Given the description of an element on the screen output the (x, y) to click on. 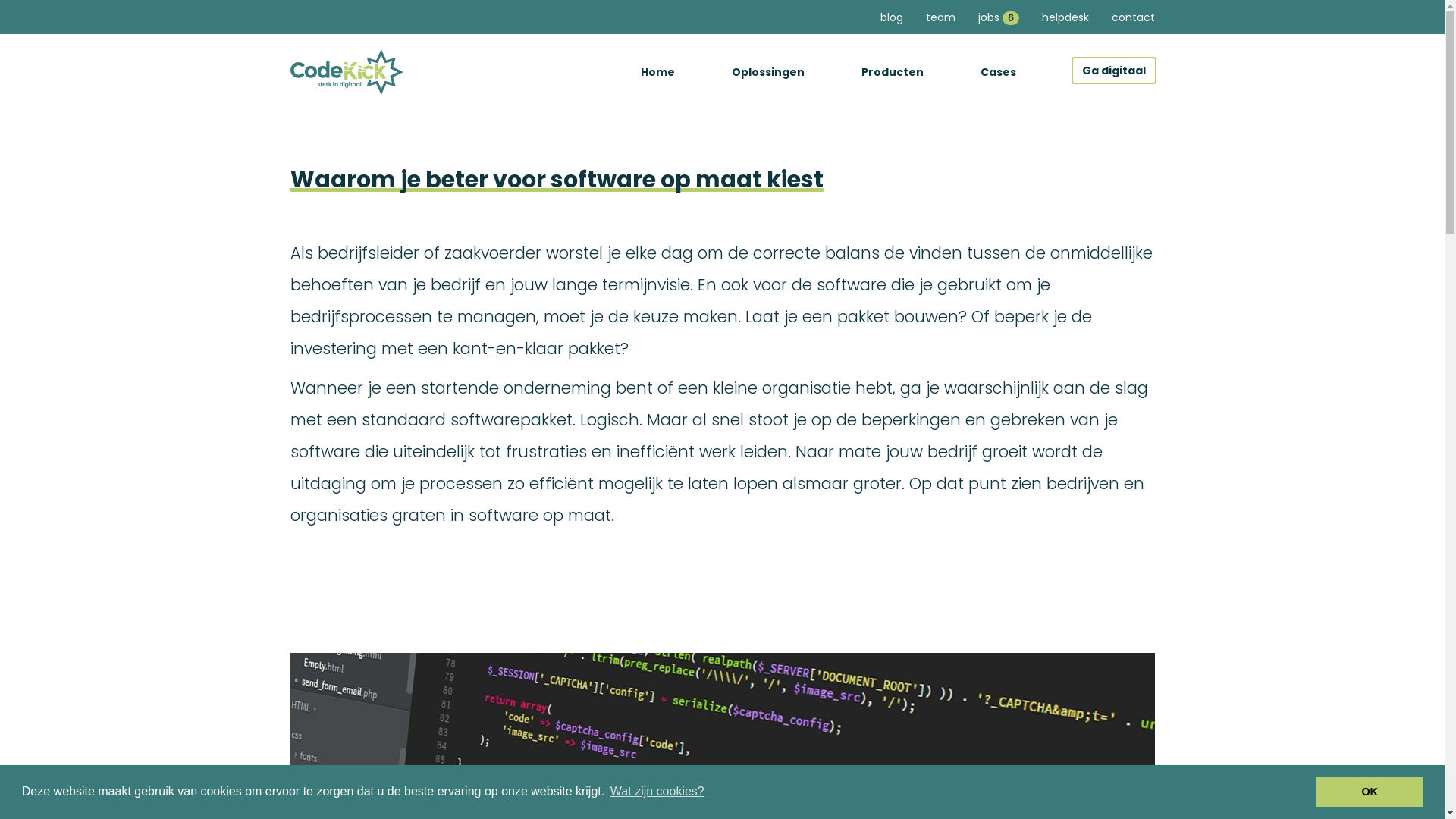
blog Element type: text (891, 17)
Ga digitaal Element type: text (1112, 69)
contact Element type: text (1132, 17)
helpdesk Element type: text (1064, 17)
Producten Element type: text (892, 71)
Oplossingen Element type: text (767, 71)
OK Element type: text (1369, 791)
Wat zijn cookies? Element type: text (657, 791)
Home Element type: text (656, 71)
team Element type: text (940, 17)
jobs 6 Element type: text (997, 17)
Cases Element type: text (997, 71)
